Given the description of an element on the screen output the (x, y) to click on. 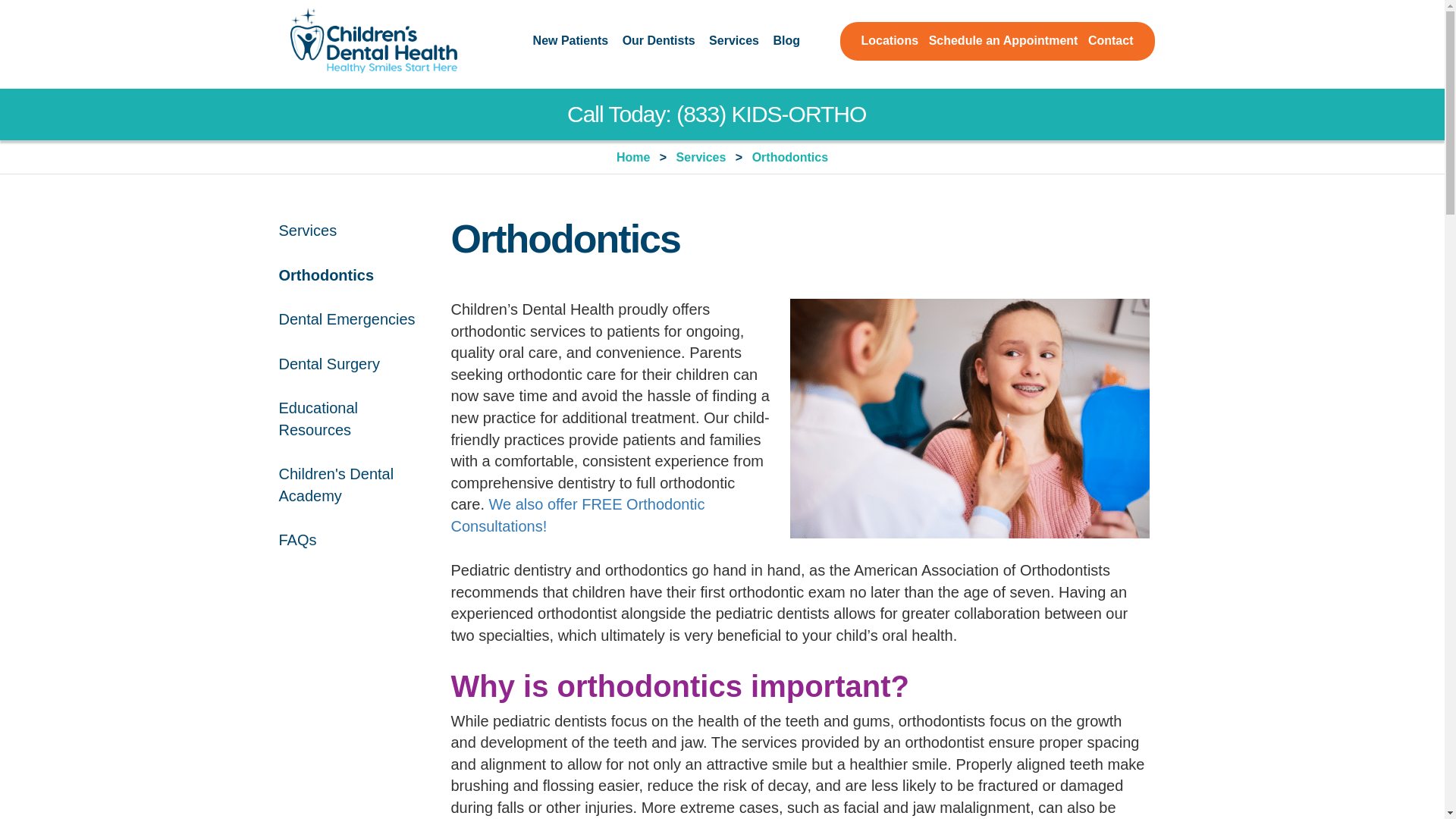
Services (733, 40)
Dental Surgery (329, 371)
Dental Emergencies (346, 326)
New Patients (570, 40)
Educational Resources (353, 426)
FAQs (298, 547)
We also offer FREE Orthodontic Consultations! (576, 515)
Children's Dental Academy (353, 492)
Services (308, 238)
